Given the description of an element on the screen output the (x, y) to click on. 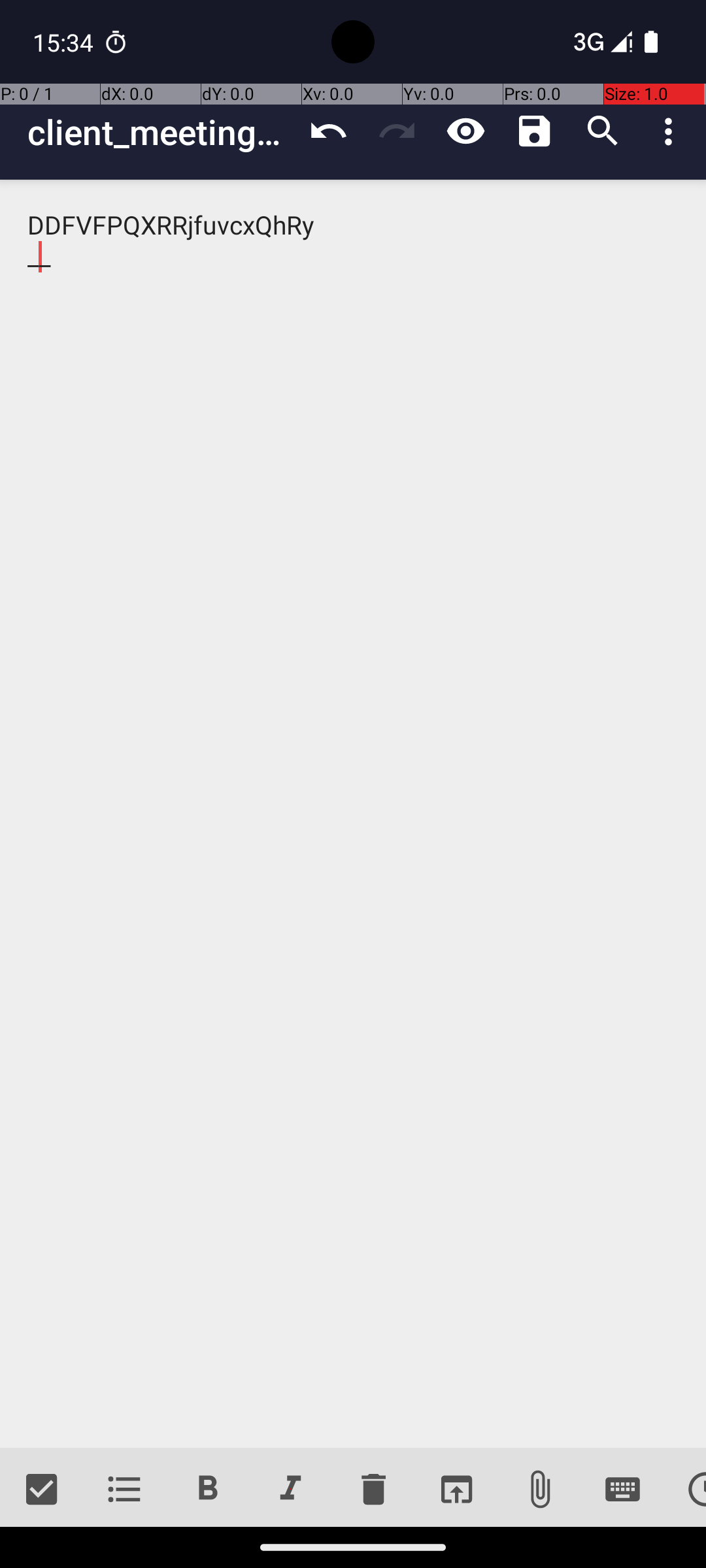
client_meetings_schedule_backup Element type: android.widget.TextView (160, 131)
DDFVFPQXRRjfuvcxQhRy
__ Element type: android.widget.EditText (353, 813)
